Given the description of an element on the screen output the (x, y) to click on. 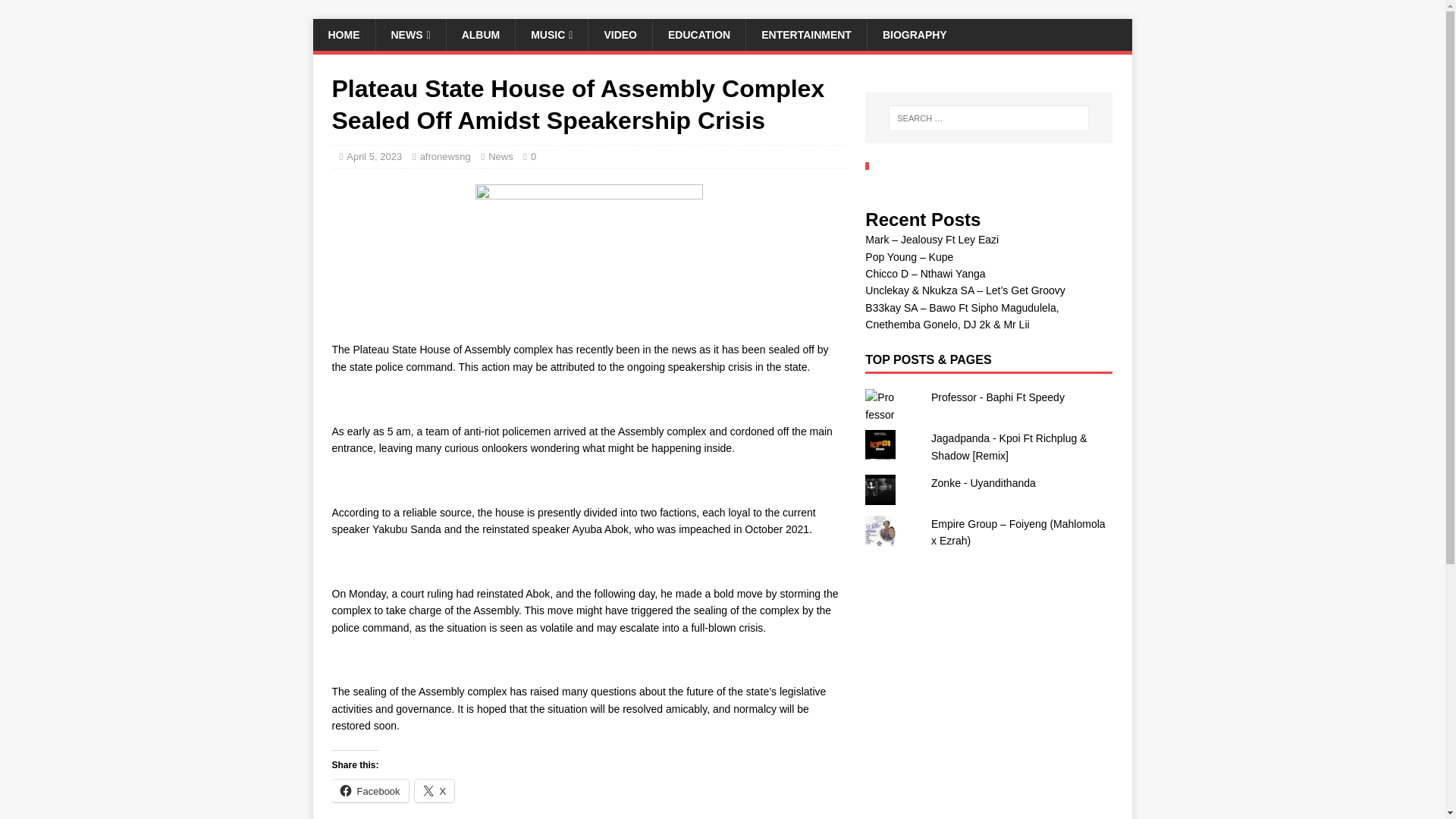
ENTERTAINMENT (805, 34)
afronewsng (445, 156)
Facebook (370, 790)
ALBUM (480, 34)
Zonke - Uyandithanda (983, 482)
NEWS (409, 34)
0 (533, 156)
BIOGRAPHY (914, 34)
HOME (343, 34)
Search (56, 11)
MUSIC (551, 34)
Professor - Baphi Ft Speedy (997, 397)
VIDEO (620, 34)
X (434, 790)
Click to share on X (434, 790)
